Given the description of an element on the screen output the (x, y) to click on. 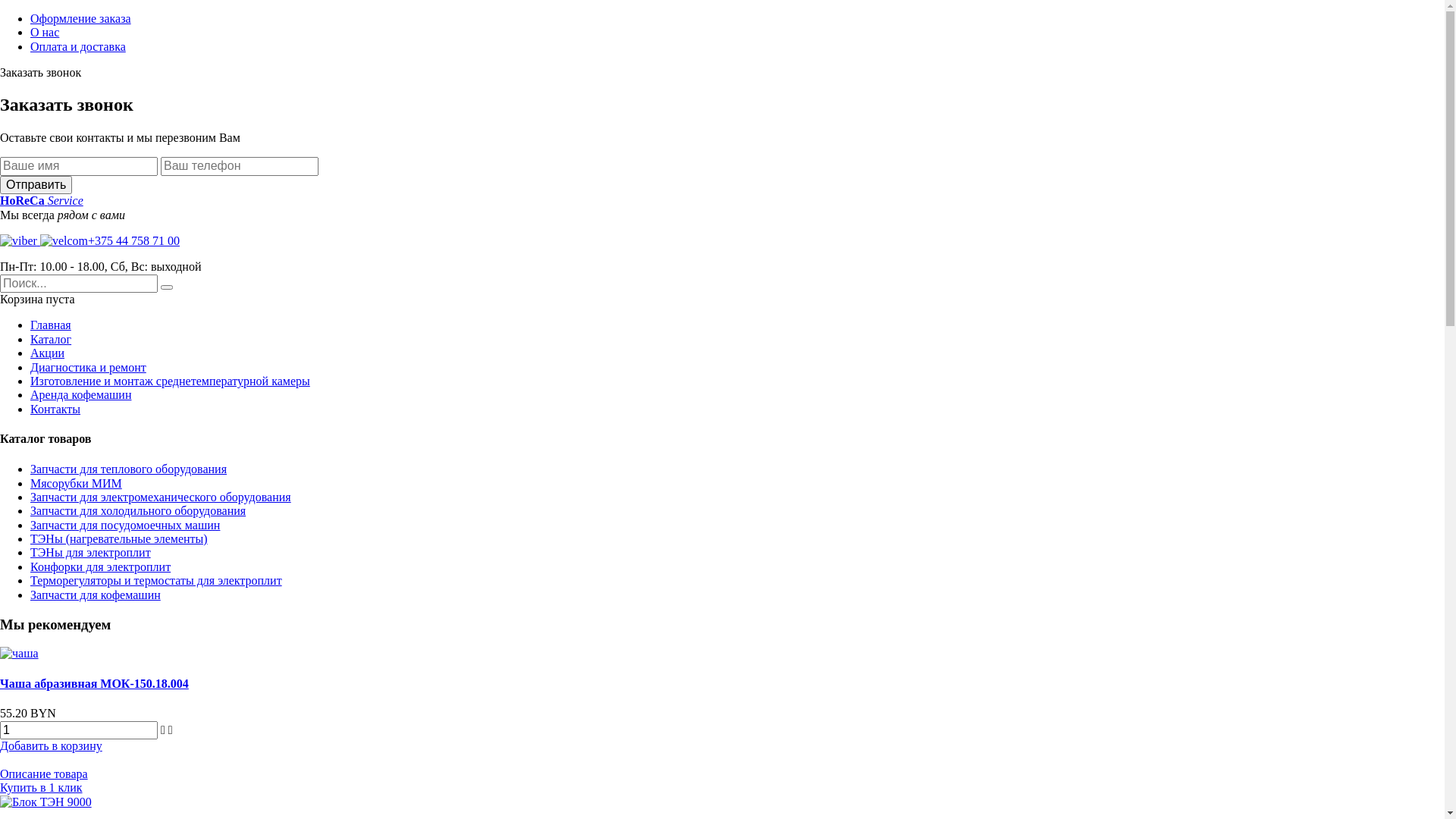
HoReCa Service Element type: text (41, 200)
+375 44 758 71 00 Element type: text (89, 240)
1 Element type: text (78, 730)
